Given the description of an element on the screen output the (x, y) to click on. 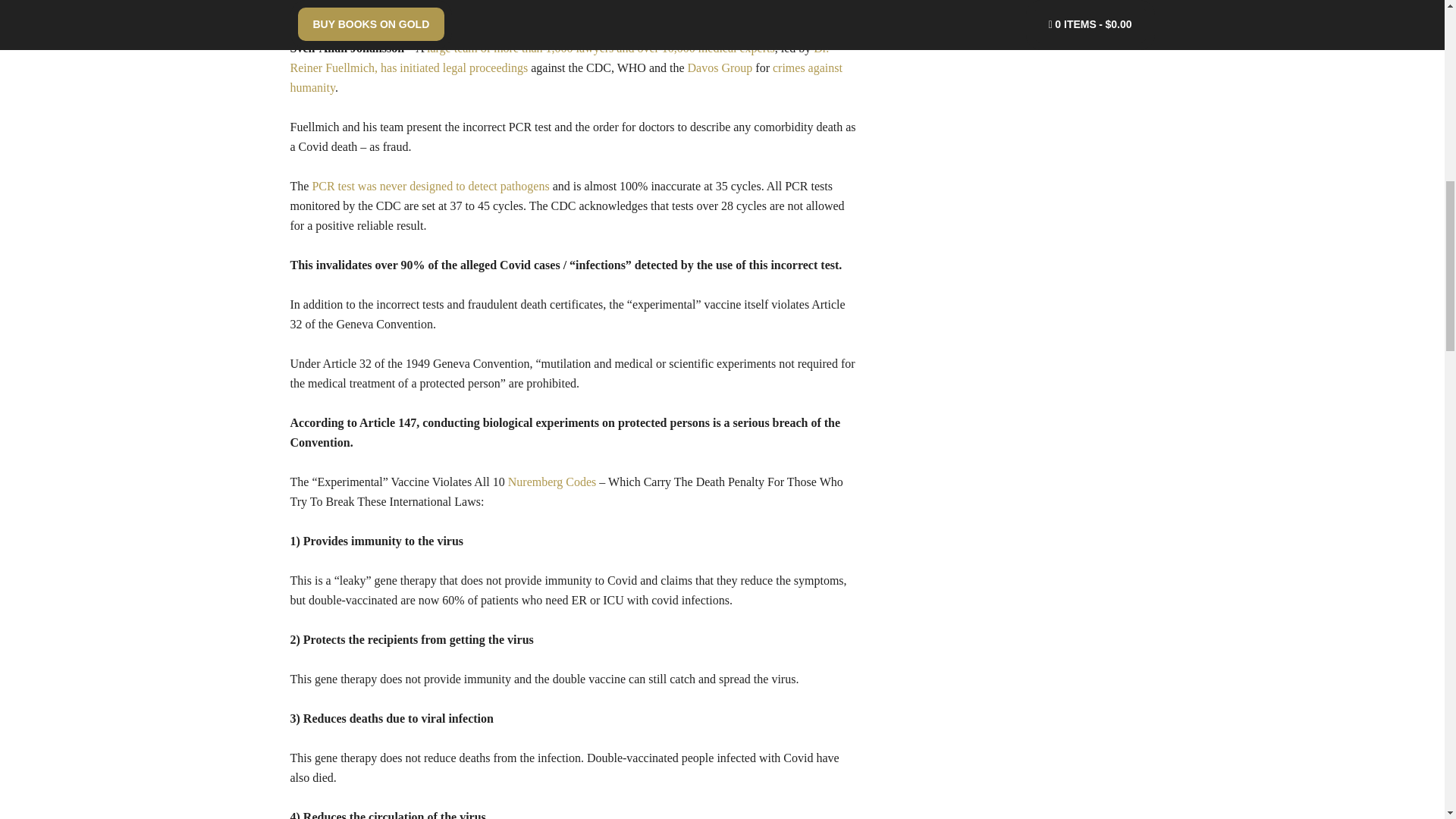
Davos Group (719, 67)
Nuremberg Codes (552, 481)
crimes against humanity (565, 77)
Dr. Reiner Fuellmich, has initiated legal proceedings (558, 57)
PCR test was never designed to detect pathogens (429, 185)
HERE (338, 8)
